Given the description of an element on the screen output the (x, y) to click on. 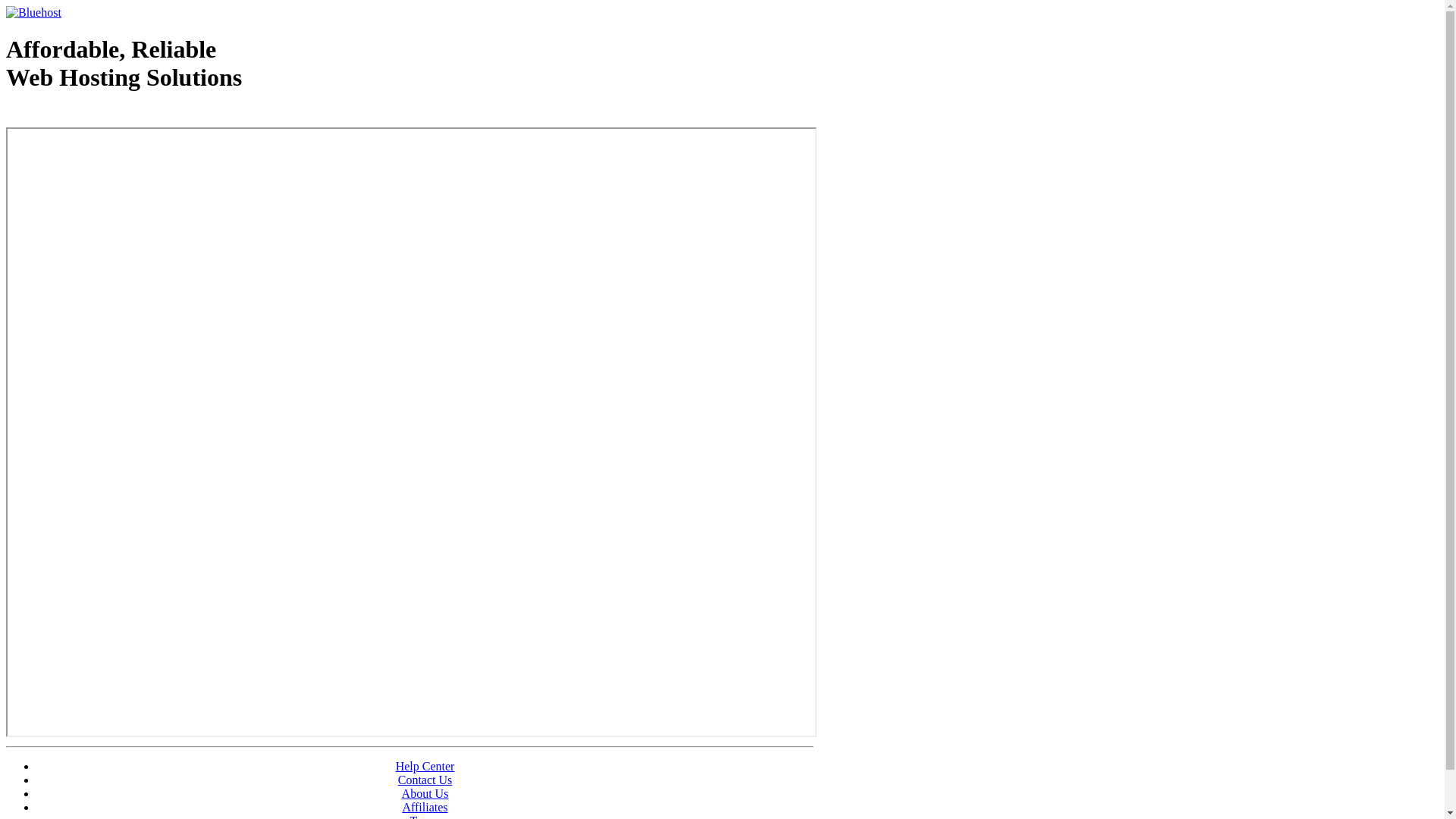
Help Center Element type: text (425, 765)
Affiliates Element type: text (424, 806)
Contact Us Element type: text (425, 779)
Web Hosting - courtesy of www.bluehost.com Element type: text (94, 115)
About Us Element type: text (424, 793)
